Given the description of an element on the screen output the (x, y) to click on. 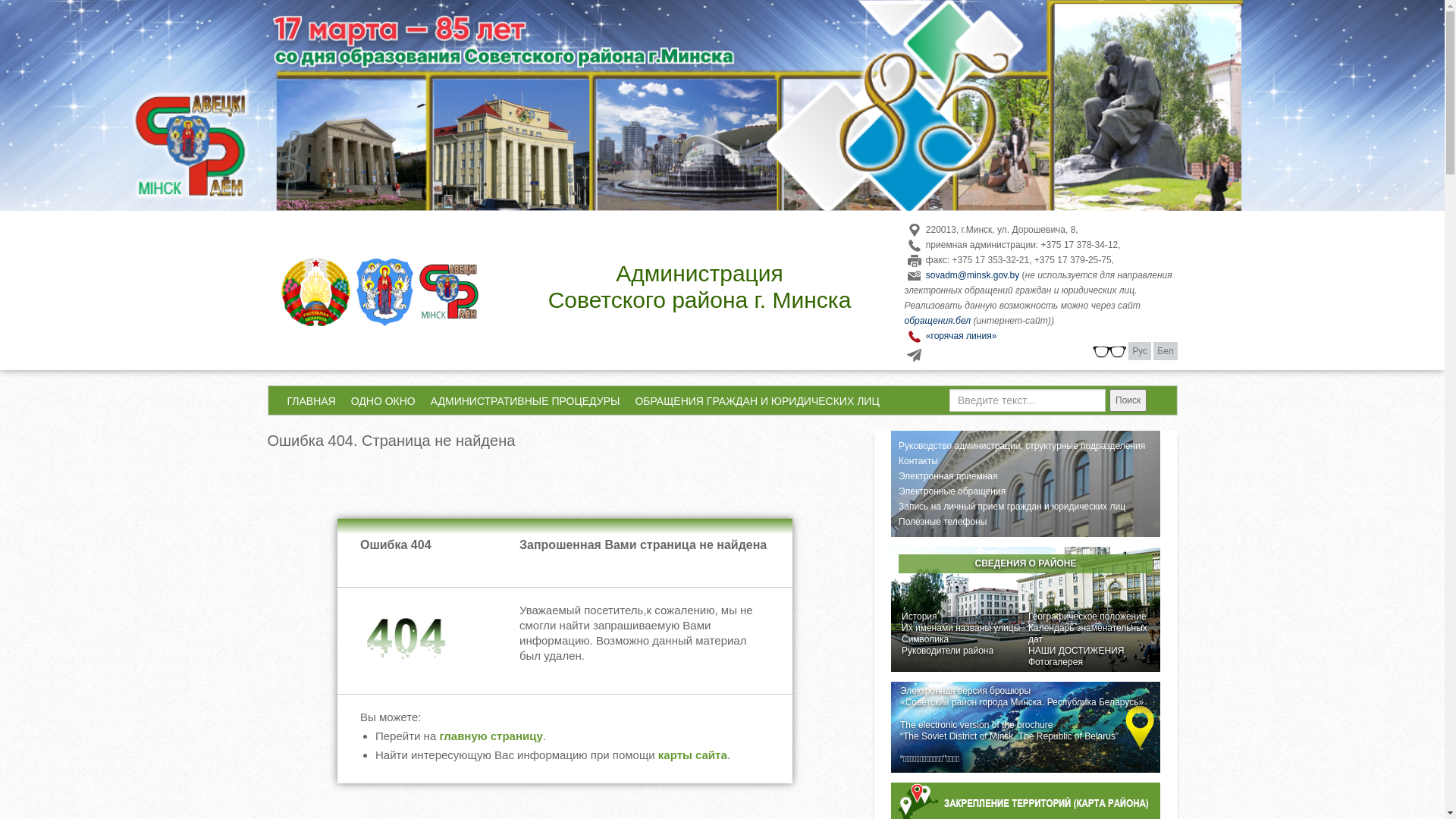
sovadm@minsk.gov.by Element type: text (972, 274)
